Given the description of an element on the screen output the (x, y) to click on. 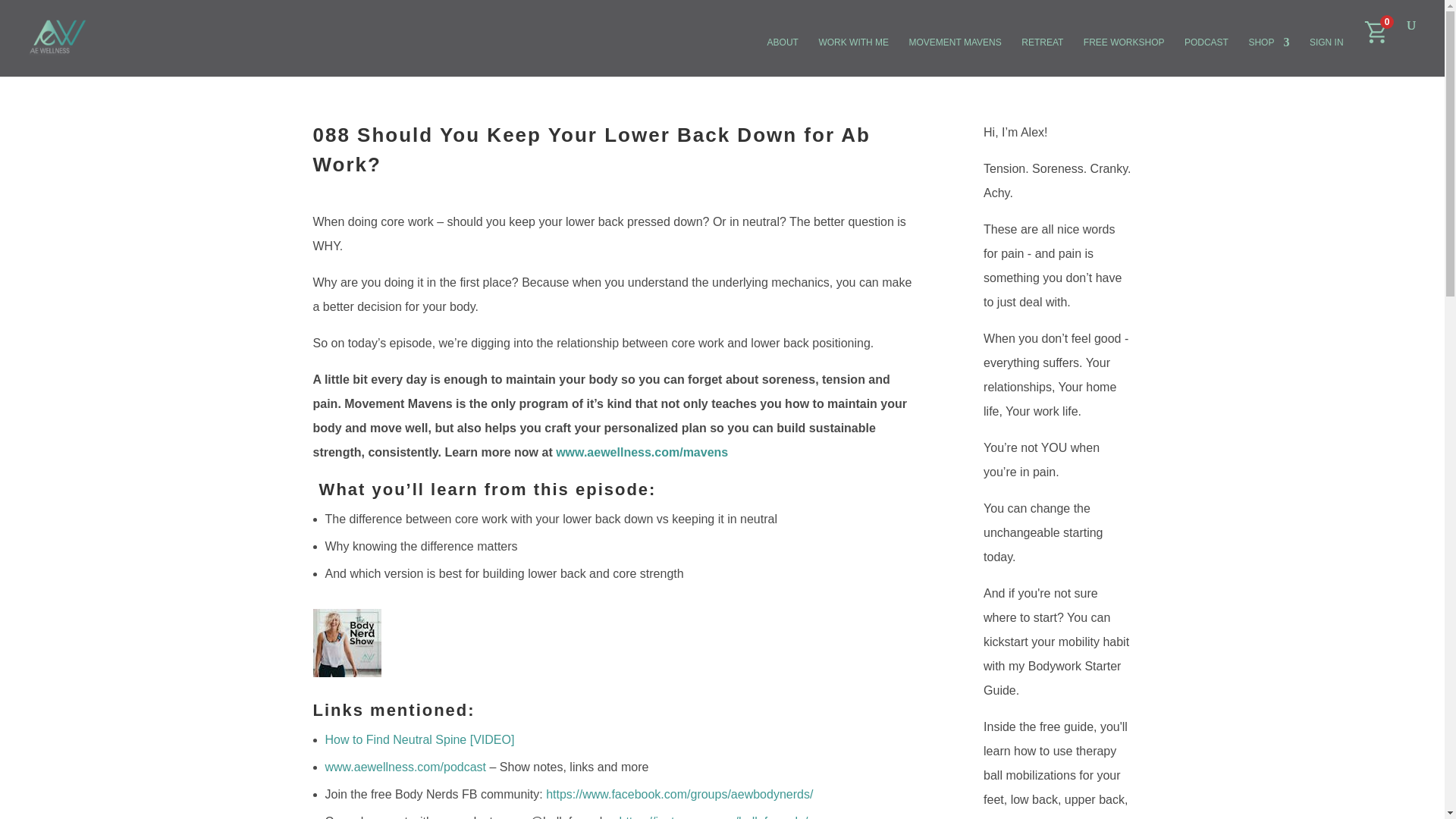
FREE WORKSHOP (1123, 51)
RETREAT (1042, 51)
PODCAST (1206, 51)
MOVEMENT MAVENS (954, 51)
SIGN IN (1325, 51)
ABOUT (782, 51)
WORK WITH ME (853, 51)
SHOP (1267, 51)
